Given the description of an element on the screen output the (x, y) to click on. 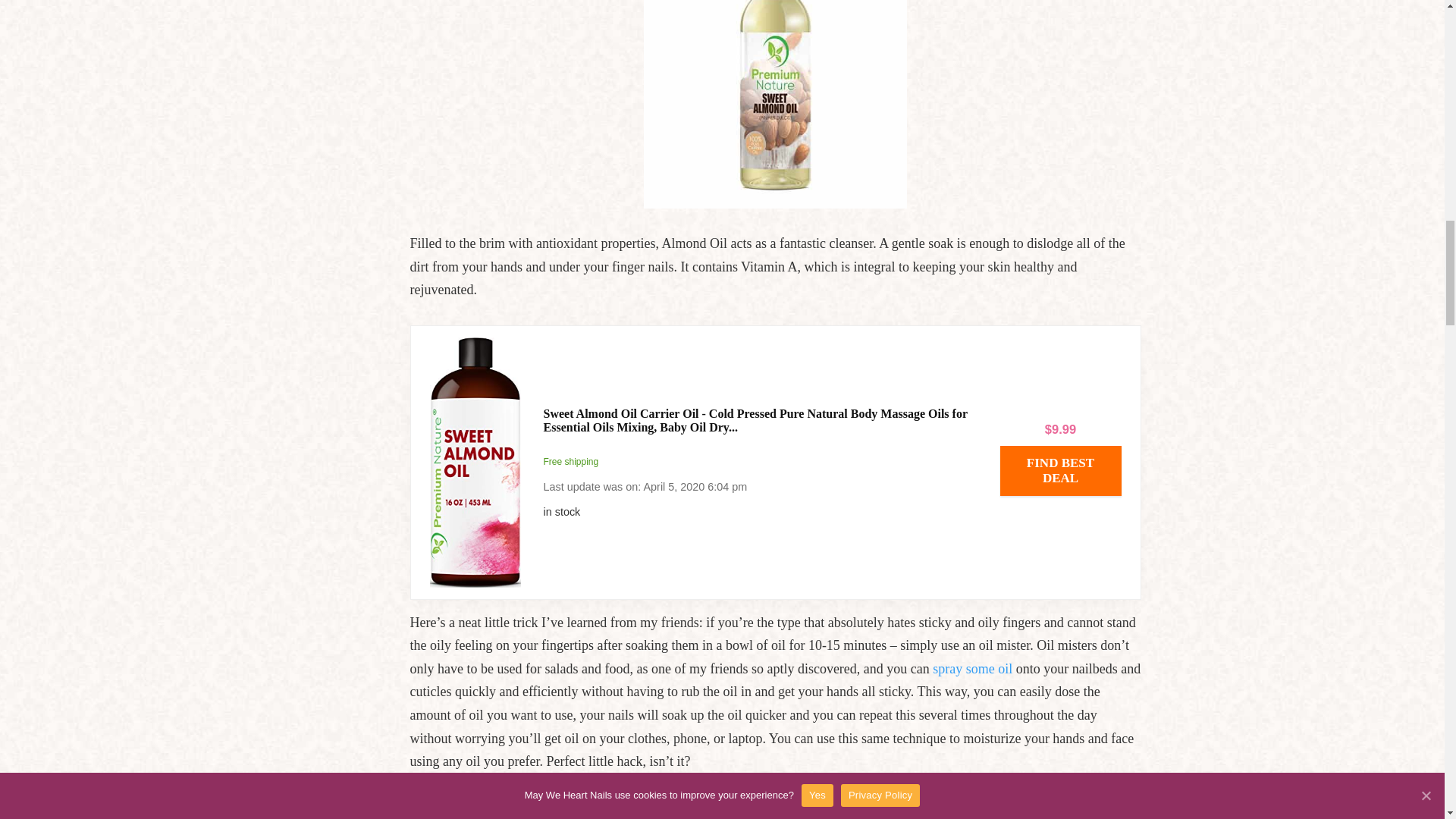
Last update was on: April 5, 2020 6:04 pm (759, 511)
